Given the description of an element on the screen output the (x, y) to click on. 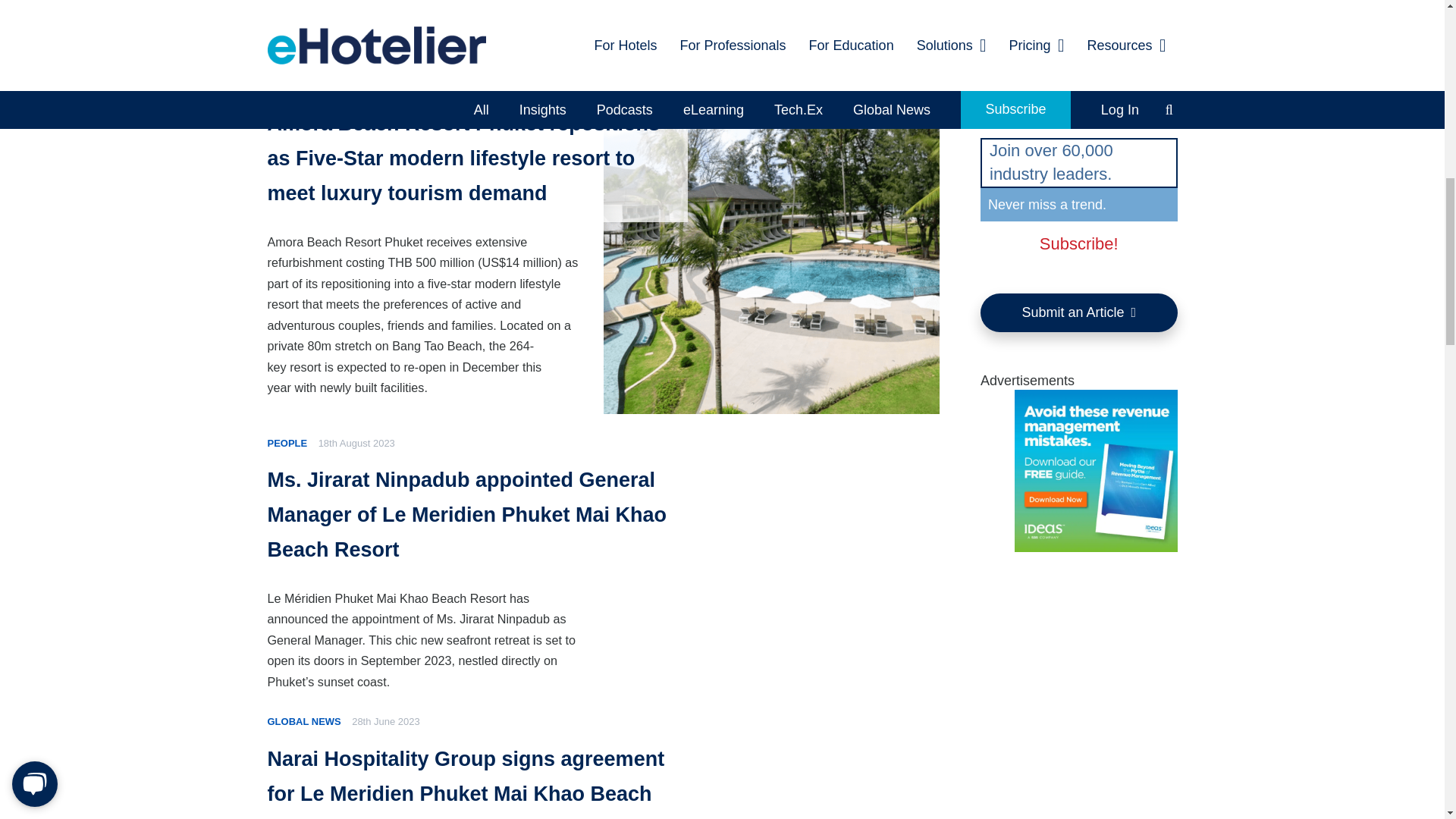
Back to top (1413, 26)
